Given the description of an element on the screen output the (x, y) to click on. 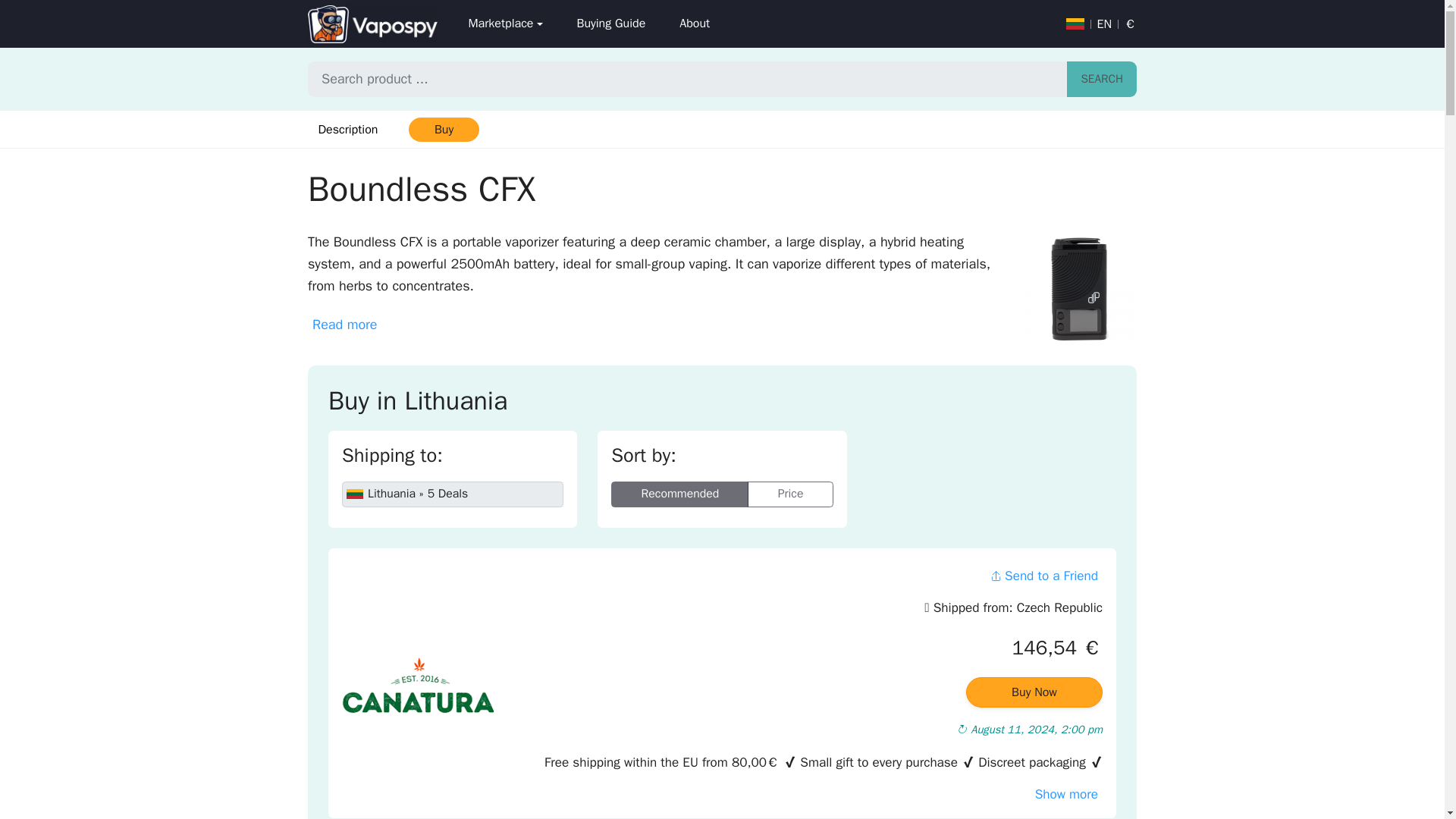
Buy (443, 129)
Read more (344, 325)
Marketplace (505, 23)
Show more (1066, 794)
Price (790, 494)
About (694, 23)
Buying Guide (610, 23)
Buy Now (1034, 692)
Shipping to: Lithuania (452, 494)
SEARCH (1102, 79)
